Given the description of an element on the screen output the (x, y) to click on. 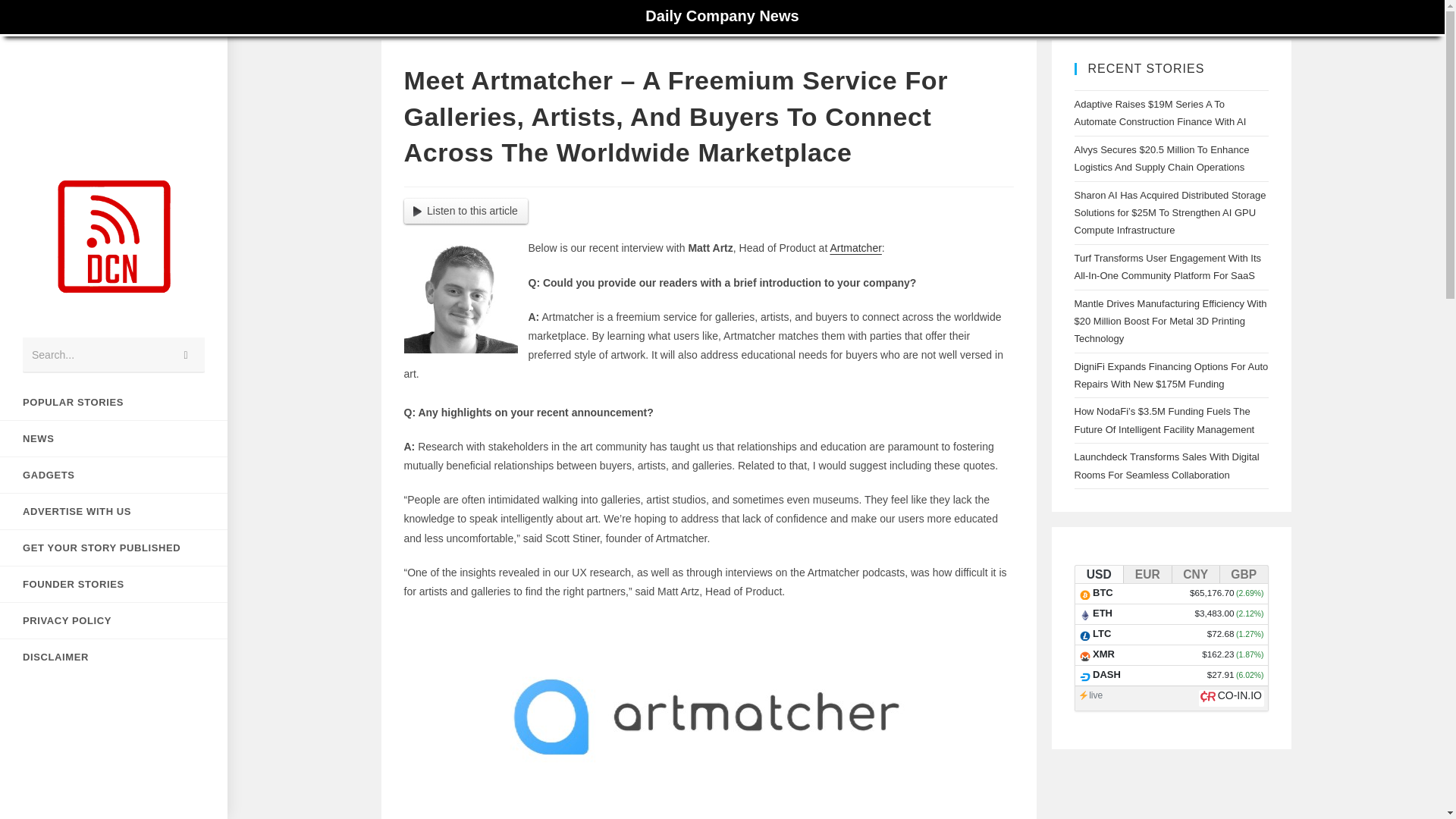
POPULAR STORIES (113, 402)
Artmatcher (854, 247)
ADVERTISE WITH US (113, 511)
NEWS (113, 438)
GET YOUR STORY PUBLISHED (113, 547)
PRIVACY POLICY (113, 620)
DISCLAIMER (113, 656)
Submit search (186, 355)
GADGETS (113, 475)
FOUNDER STORIES (113, 583)
